Given the description of an element on the screen output the (x, y) to click on. 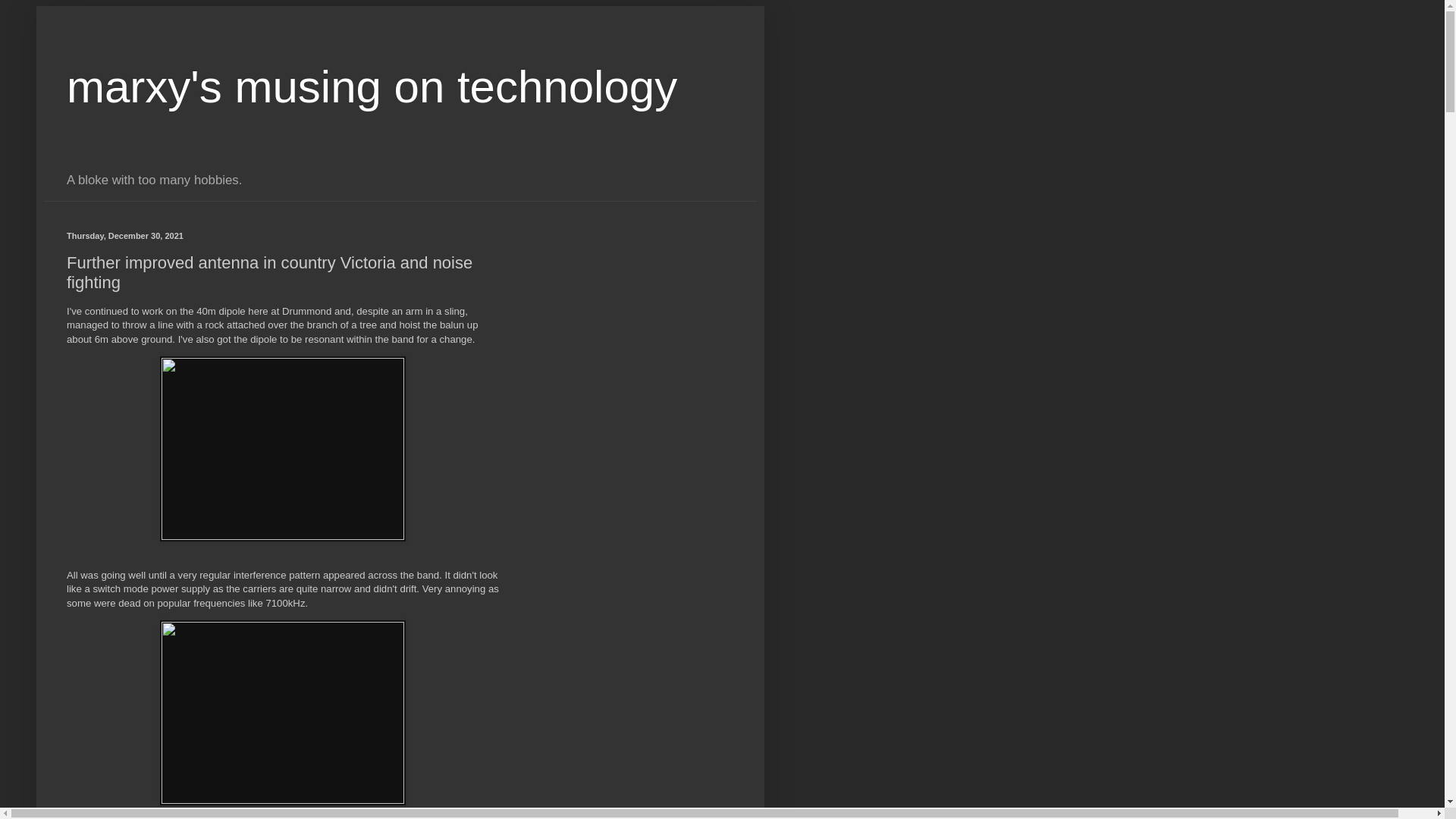
marxy's musing on technology (371, 86)
